Given the description of an element on the screen output the (x, y) to click on. 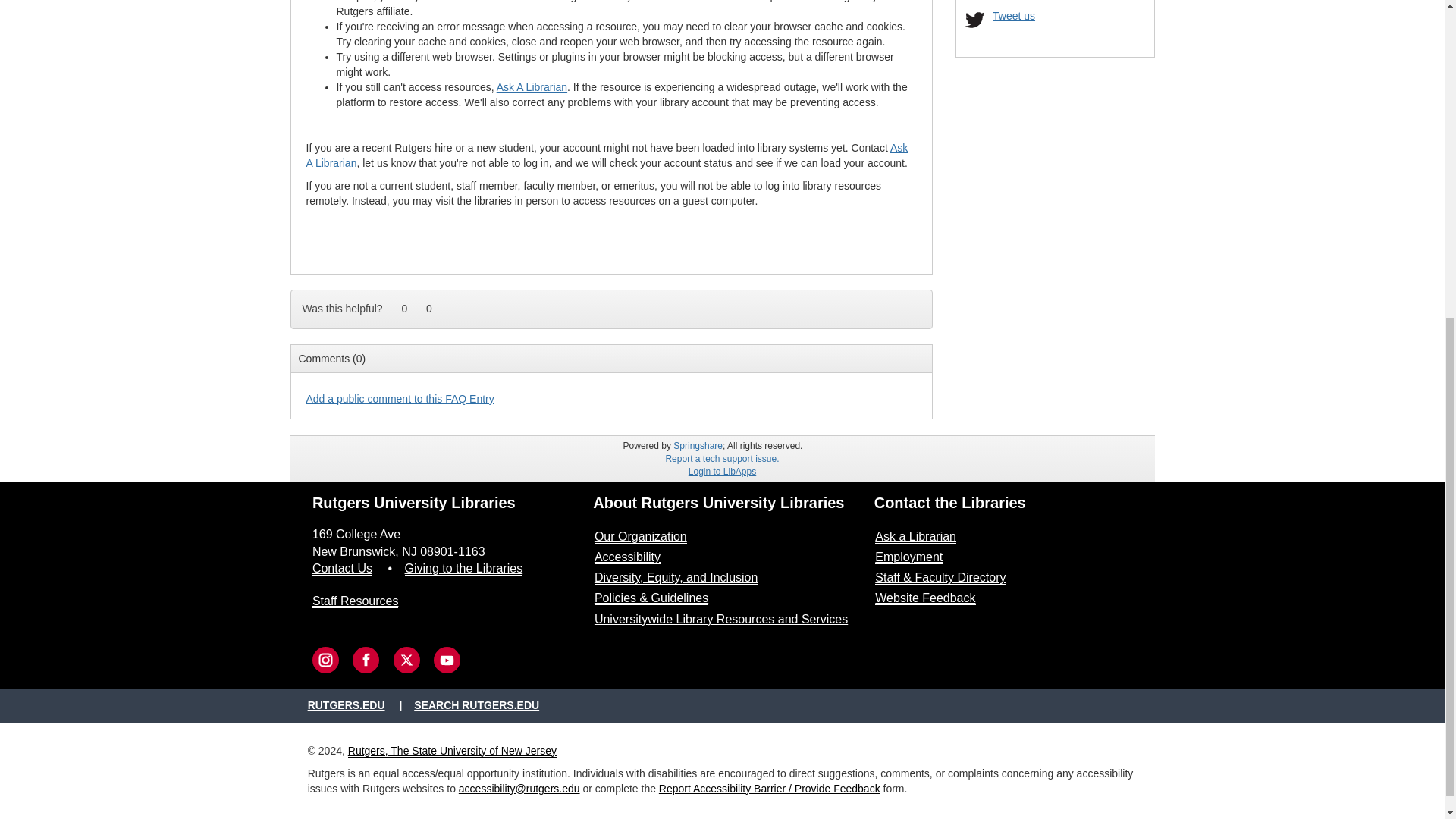
Print (874, 301)
Ask A Librarian (606, 154)
Share on Facebook (919, 301)
Add a public comment to this FAQ Entry (400, 398)
Tweet (897, 301)
Ask A Librarian (531, 87)
